Given the description of an element on the screen output the (x, y) to click on. 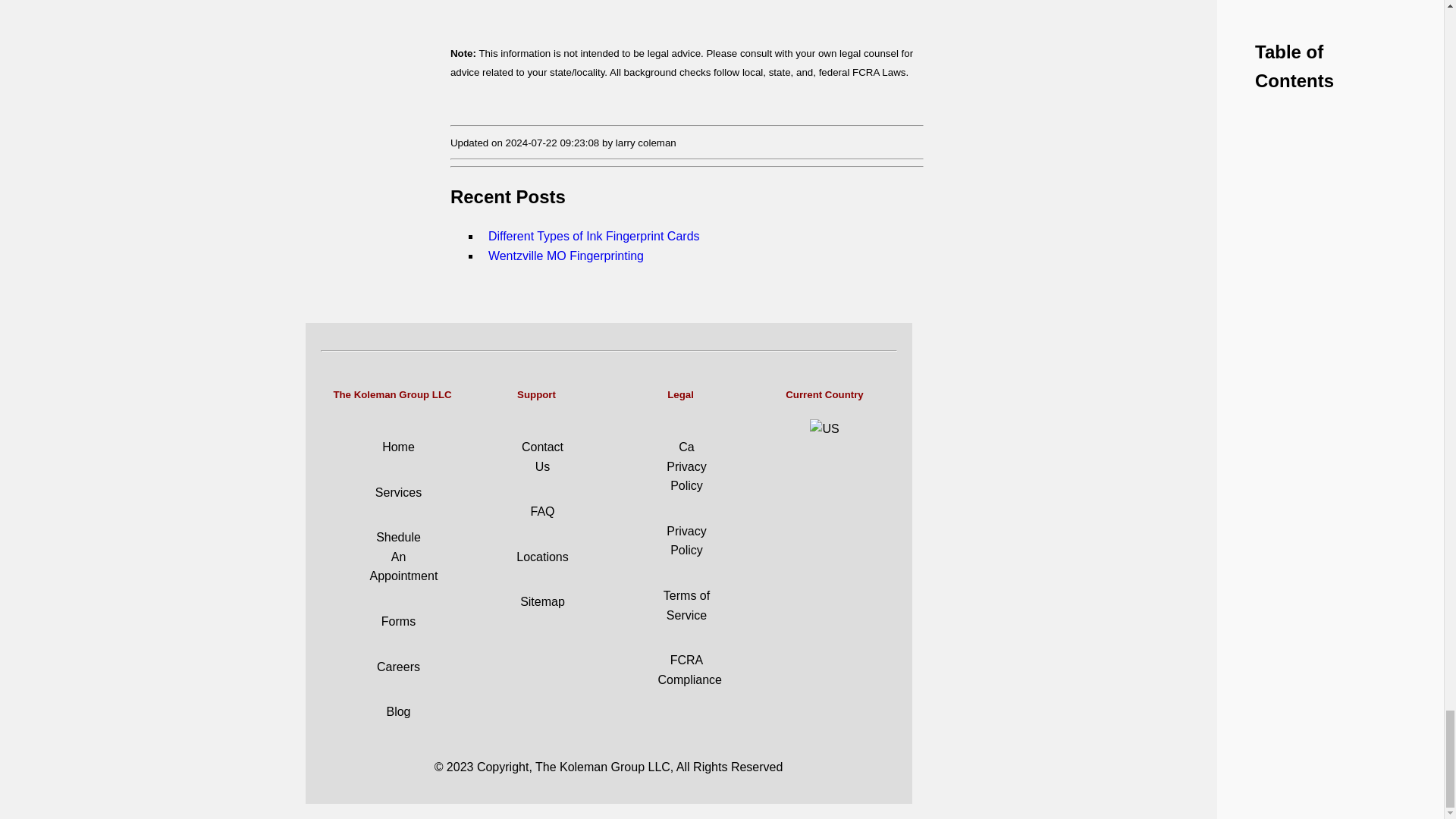
Blog (397, 711)
Shedule An Appointment (403, 556)
Sitemap (541, 601)
Wentzville MO Fingerprinting (574, 246)
Locations (542, 556)
Home (397, 446)
FAQ (541, 511)
Careers (398, 666)
Contact Us (542, 456)
Different Types of Ink Fingerprint Cards (602, 226)
Terms of Service (686, 604)
Privacy Policy (686, 540)
Forms (397, 621)
FCRA Compliance (690, 669)
Services (398, 492)
